Given the description of an element on the screen output the (x, y) to click on. 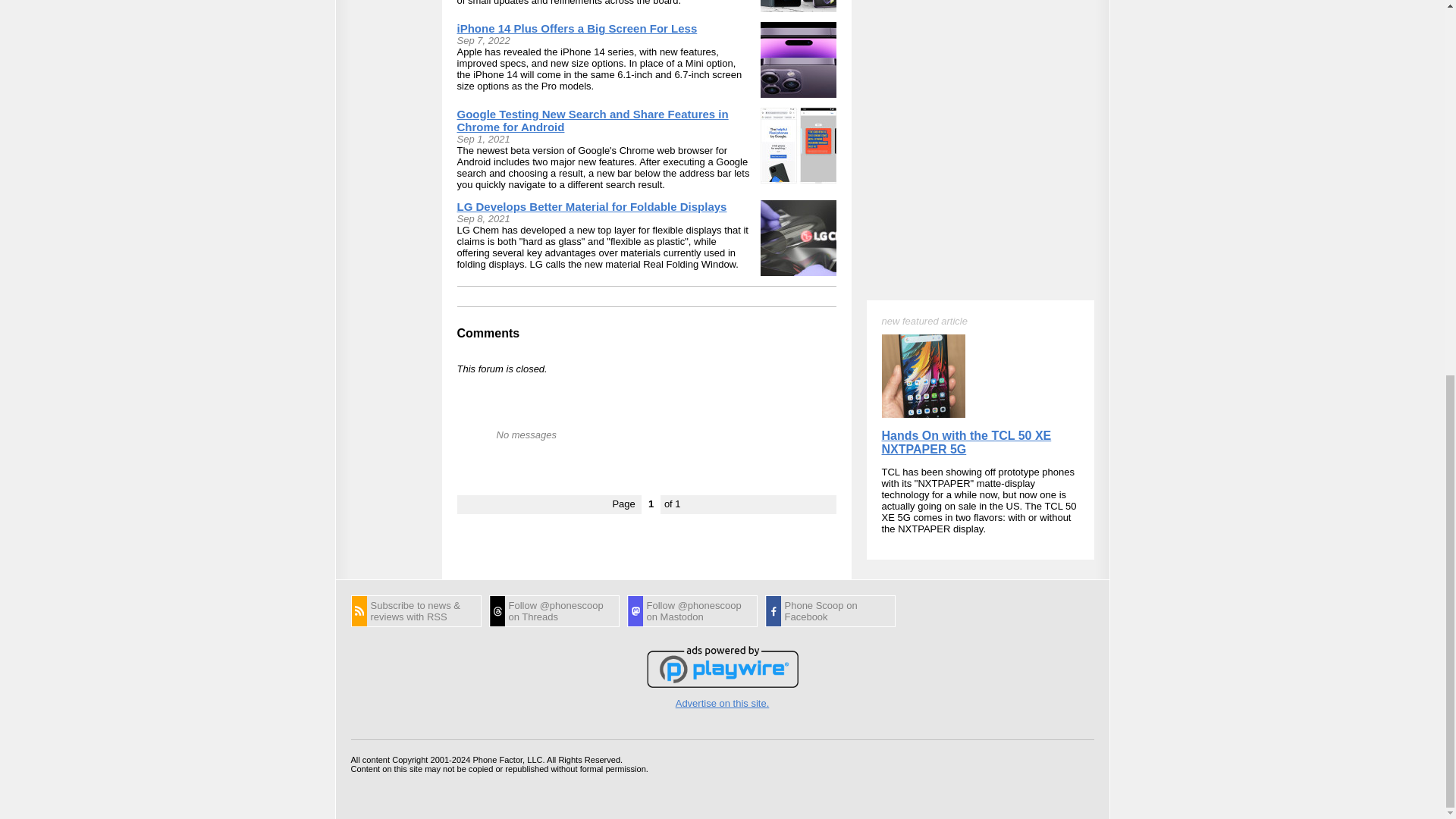
Phone Scoop - Latest News (415, 611)
Comments (488, 332)
Phone Scoop on Facebook (829, 611)
Hands On with the TCL 50 XE NXTPAPER 5G (965, 219)
